Given the description of an element on the screen output the (x, y) to click on. 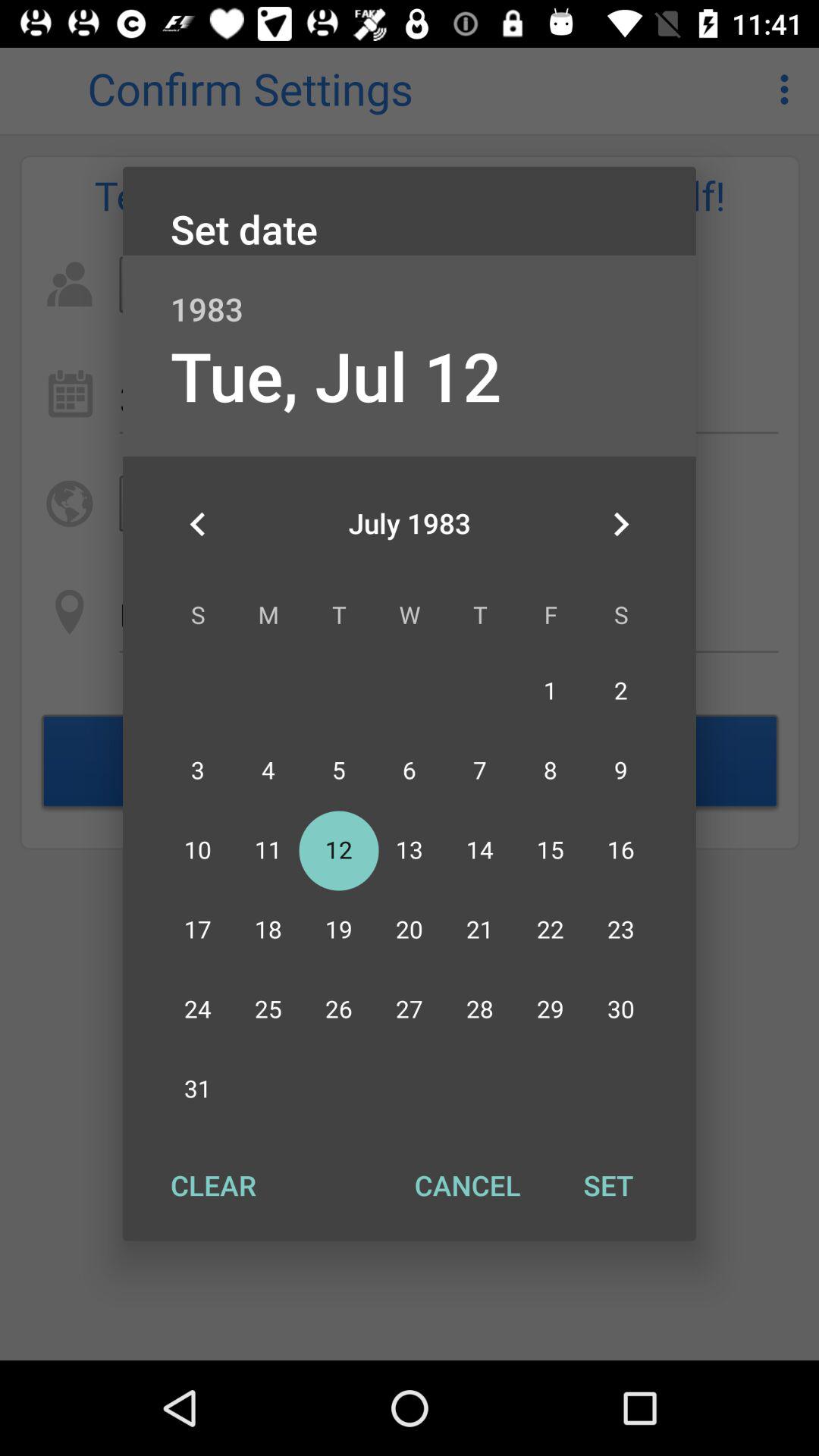
tap the clear at the bottom left corner (213, 1185)
